Given the description of an element on the screen output the (x, y) to click on. 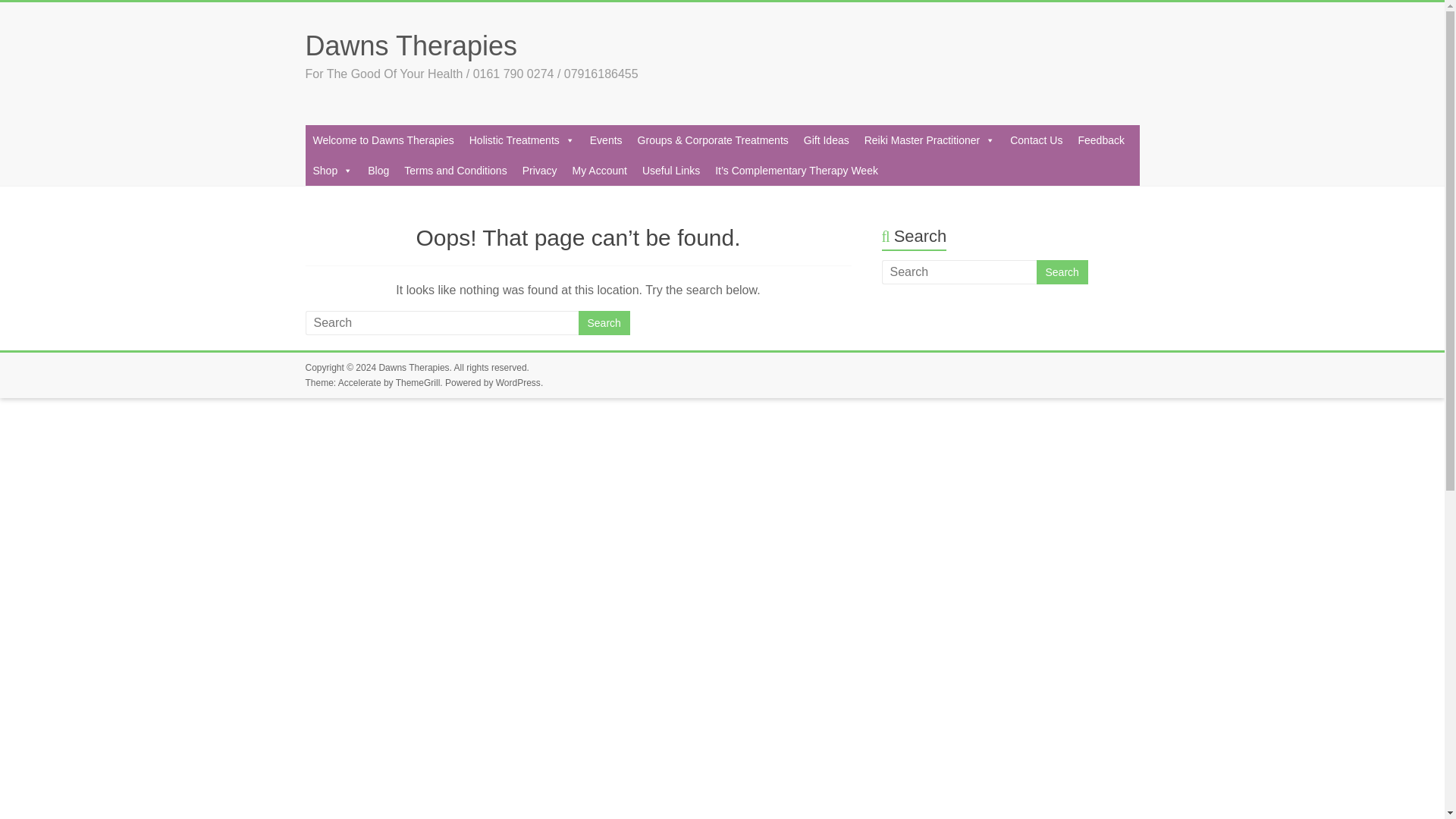
Search (603, 322)
Dawns Therapies (410, 45)
WordPress (518, 382)
Dawns Therapies (413, 367)
Shop (331, 170)
Feedback (1100, 140)
Search (1061, 272)
Gift Ideas (826, 140)
Reiki Master Practitioner (930, 140)
Events (606, 140)
Welcome to Dawns Therapies (382, 140)
Contact Us (1036, 140)
Dawns Therapies (410, 45)
Holistic Treatments (521, 140)
Accelerate (359, 382)
